Given the description of an element on the screen output the (x, y) to click on. 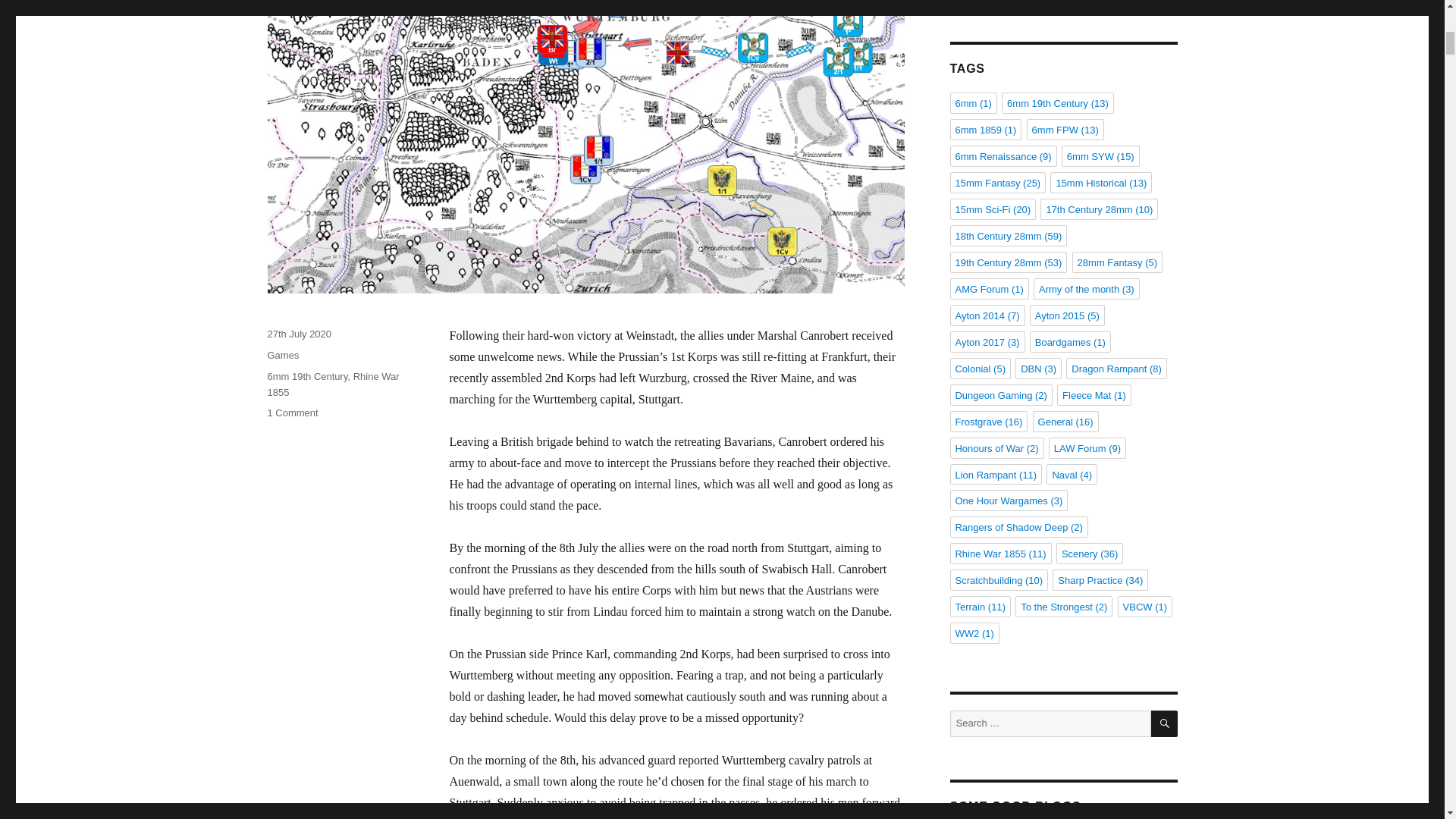
6mm 19th Century (306, 376)
Rhine War 1855 (332, 384)
27th July 2020 (298, 333)
Games (282, 355)
